Given the description of an element on the screen output the (x, y) to click on. 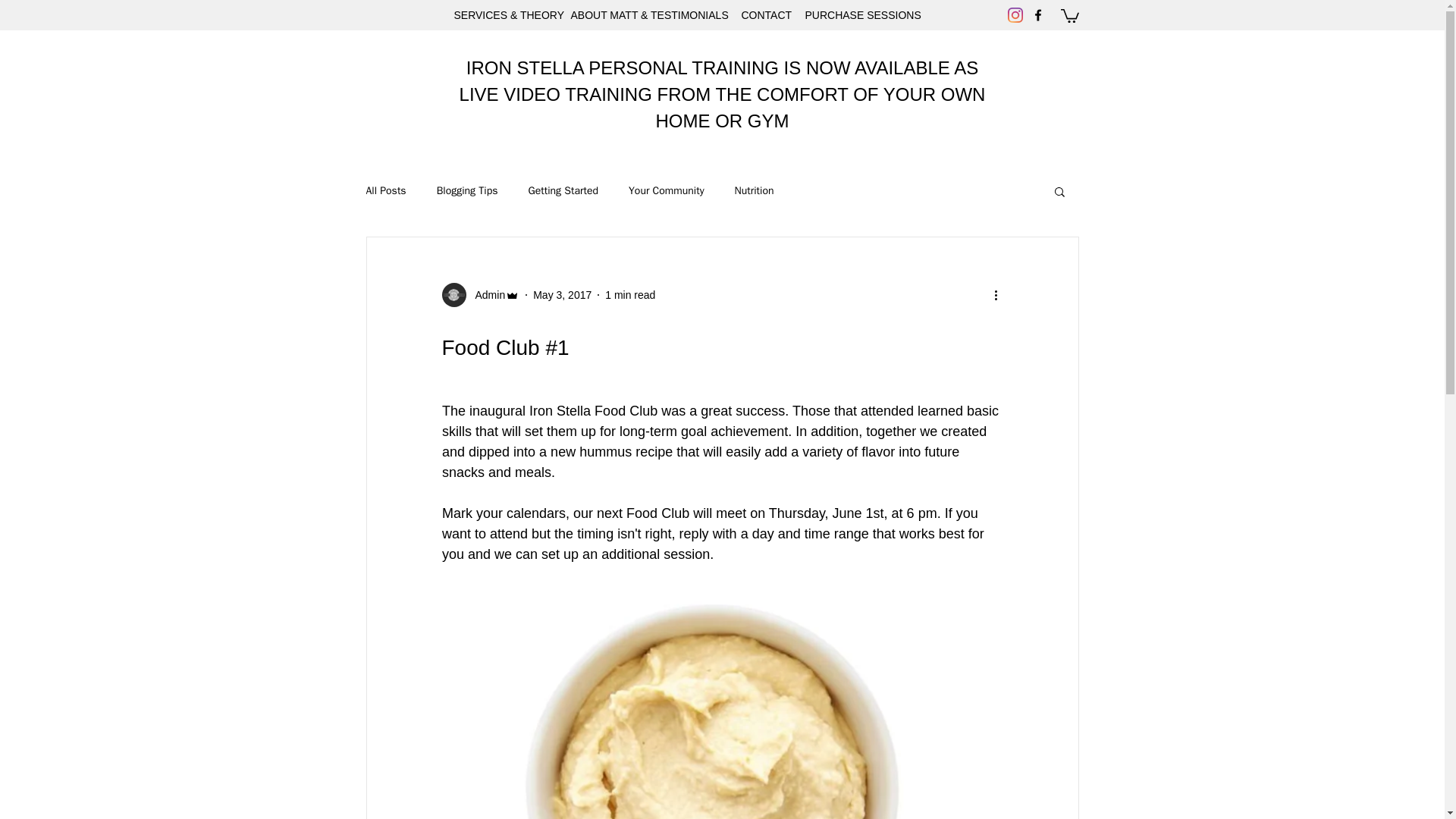
Your Community (666, 191)
Getting Started (562, 191)
Nutrition (754, 191)
Admin (480, 294)
Blogging Tips (466, 191)
PURCHASE SESSIONS (858, 15)
All Posts (385, 191)
Admin (485, 295)
1 min read (630, 295)
CONTACT (765, 15)
May 3, 2017 (561, 295)
